Given the description of an element on the screen output the (x, y) to click on. 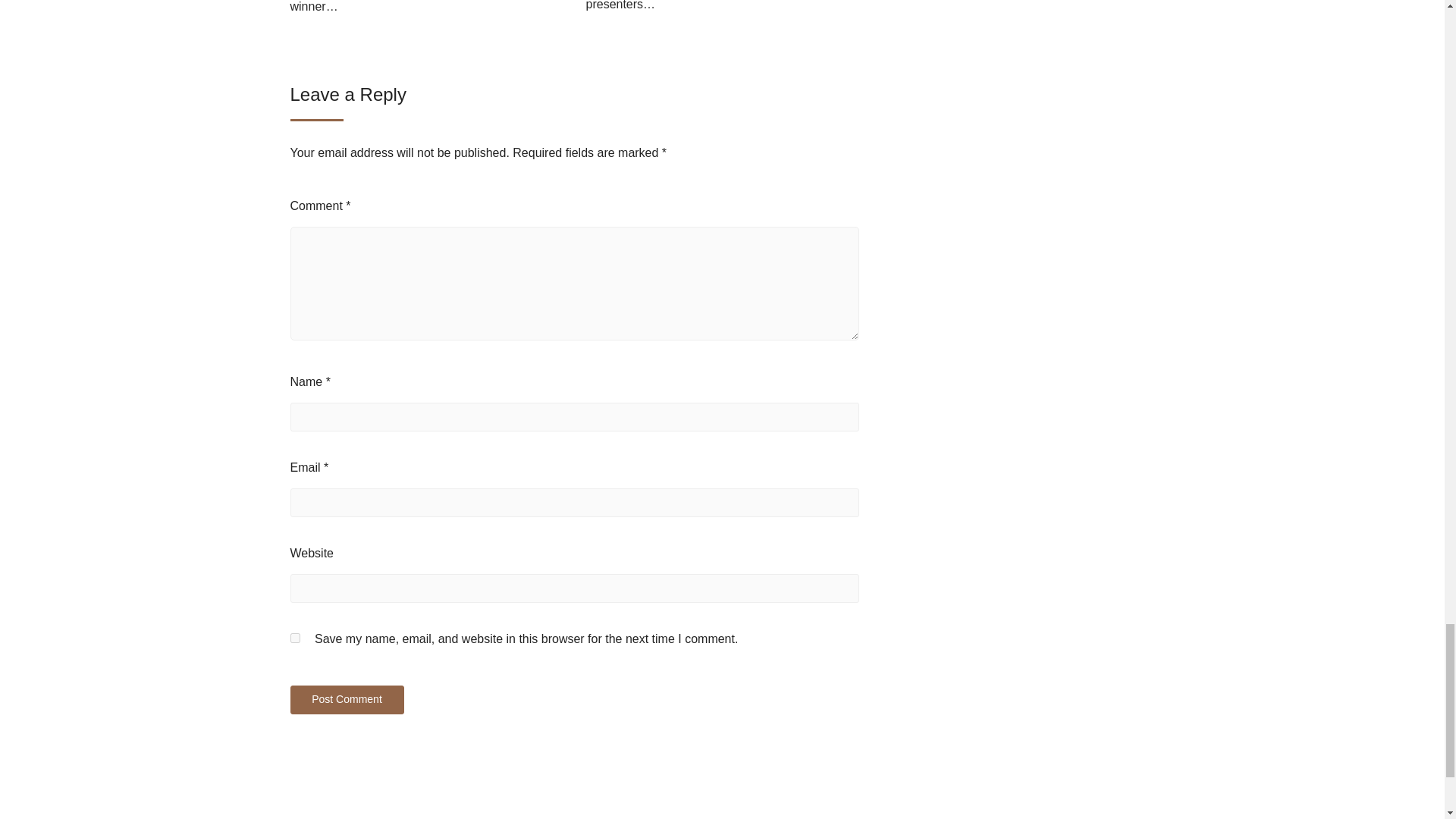
Post Comment (346, 699)
Post Comment (346, 699)
yes (294, 637)
